Given the description of an element on the screen output the (x, y) to click on. 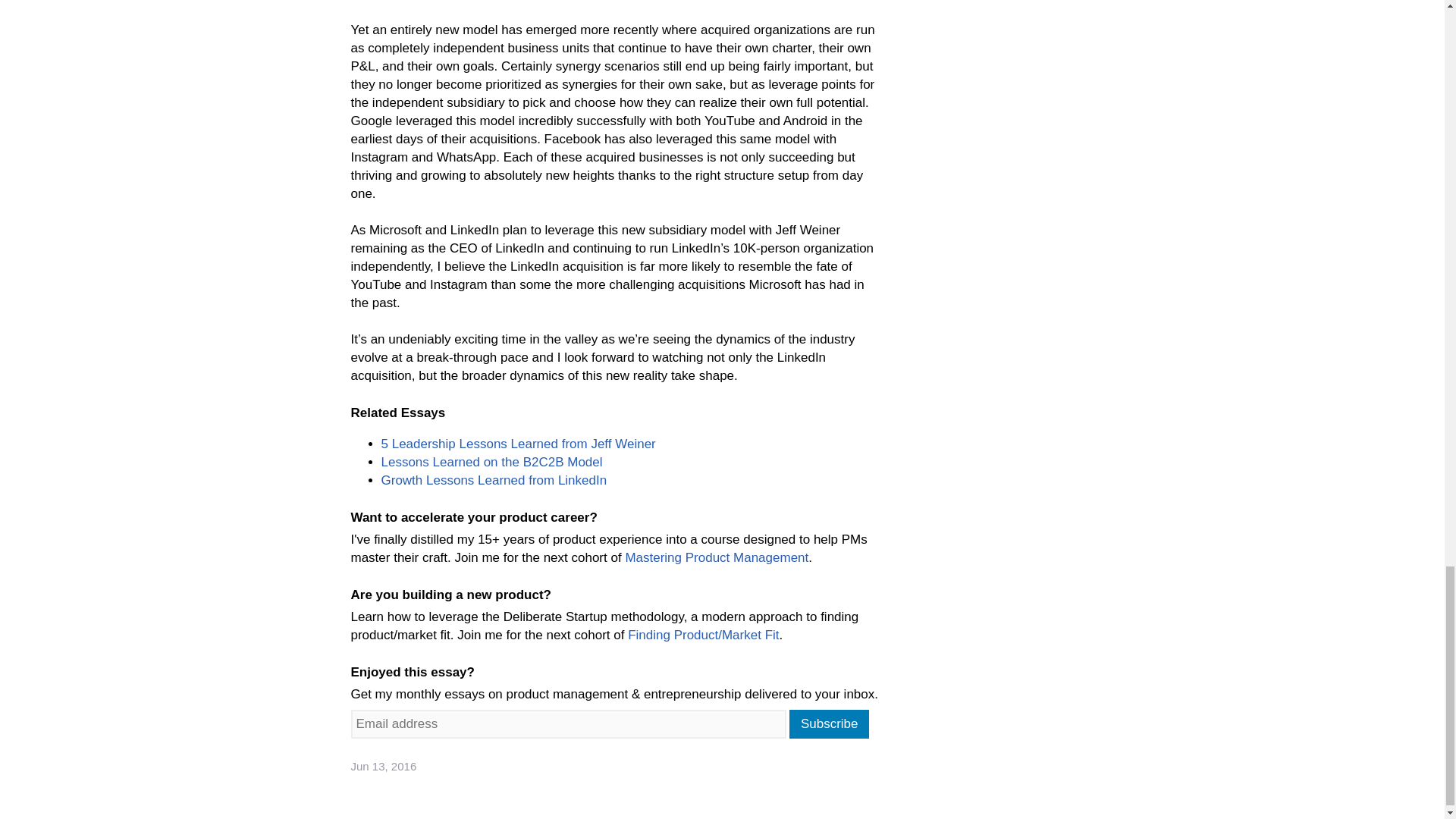
5 Leadership Lessons Learned from Jeff Weiner (517, 443)
Lessons Learned on the B2C2B Model (491, 462)
Mastering Product Management (716, 557)
Subscribe (829, 724)
Subscribe (829, 724)
Growth Lessons Learned from LinkedIn (493, 480)
